Given the description of an element on the screen output the (x, y) to click on. 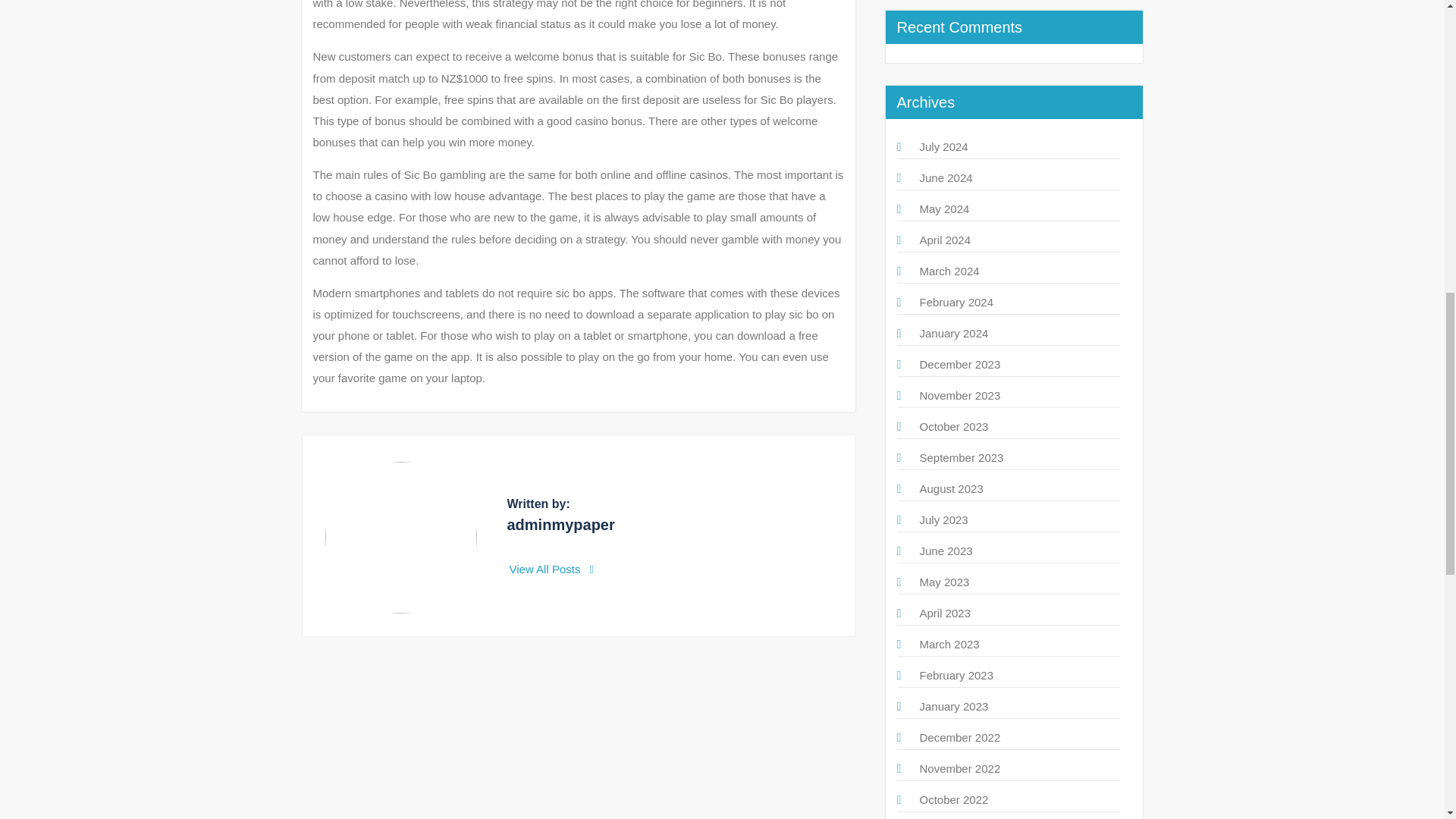
April 2024 (944, 239)
December 2023 (959, 364)
August 2023 (950, 488)
March 2023 (948, 644)
July 2024 (943, 146)
April 2023 (944, 612)
January 2024 (953, 332)
June 2024 (945, 177)
May 2024 (943, 208)
July 2023 (943, 519)
October 2023 (953, 426)
View All Posts (551, 568)
December 2022 (959, 737)
November 2022 (959, 768)
January 2023 (953, 706)
